Given the description of an element on the screen output the (x, y) to click on. 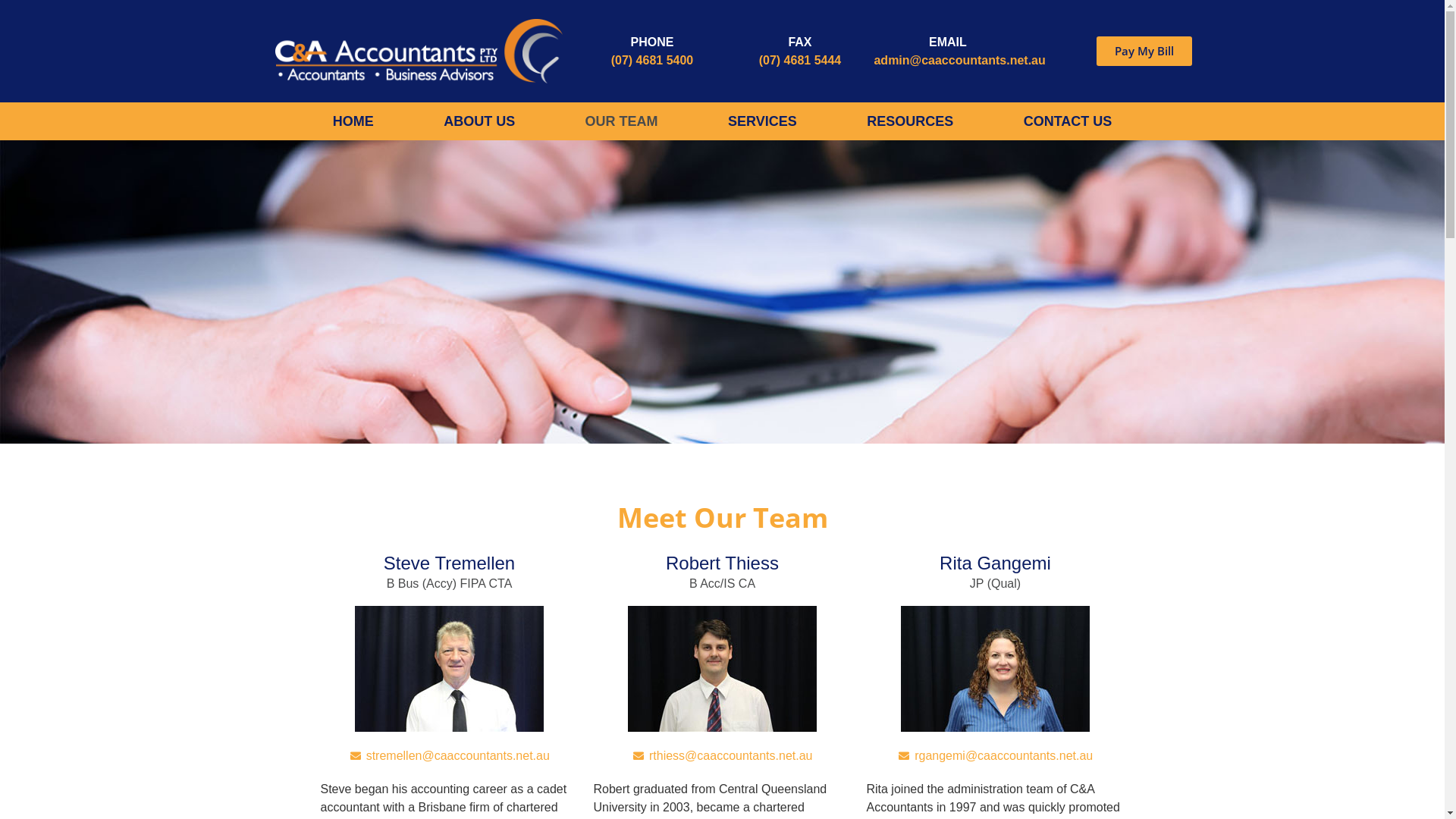
SERVICES Element type: text (762, 120)
OUR TEAM Element type: text (620, 120)
ABOUT US Element type: text (478, 120)
rthiess@caaccountants.net.au Element type: text (721, 755)
(07) 4681 5400 Element type: text (652, 59)
CONTACT US Element type: text (1067, 120)
rgangemi@caaccountants.net.au Element type: text (994, 755)
RESOURCES Element type: text (909, 120)
stremellen@caaccountants.net.au Element type: text (448, 755)
Pay My Bill Element type: text (1144, 50)
admin@caaccountants.net.au Element type: text (958, 59)
HOME Element type: text (352, 120)
(07) 4681 5444 Element type: text (800, 59)
